Given the description of an element on the screen output the (x, y) to click on. 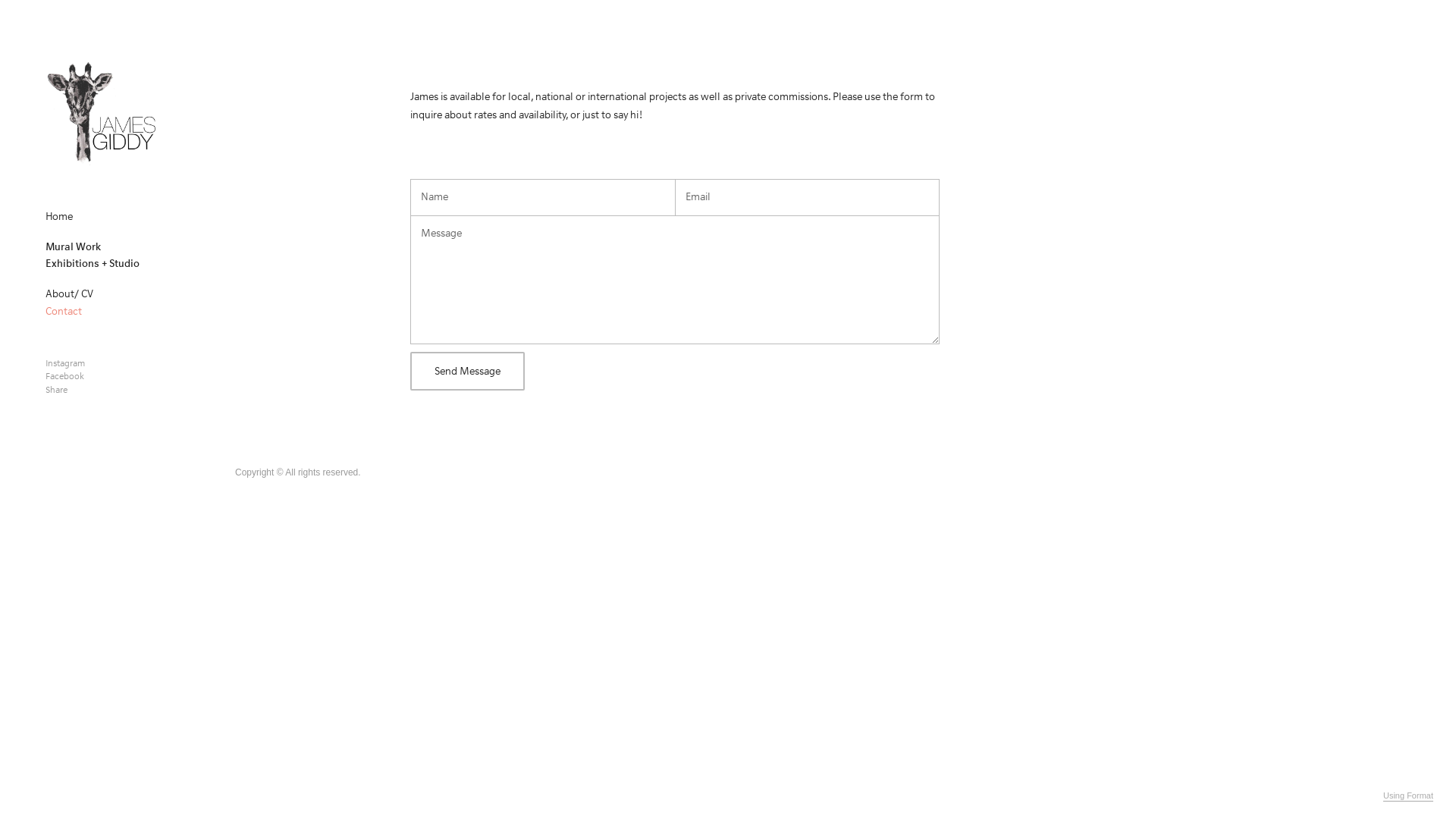
Send Message Element type: text (467, 370)
Share Element type: text (56, 390)
Instagram Element type: text (64, 363)
Home Element type: text (58, 216)
About/ CV Element type: text (69, 293)
Facebook Element type: text (64, 376)
Using Format Element type: text (1408, 795)
Mural Work Element type: text (72, 246)
Contact Element type: text (63, 310)
Exhibitions + Studio Element type: text (92, 263)
